Given the description of an element on the screen output the (x, y) to click on. 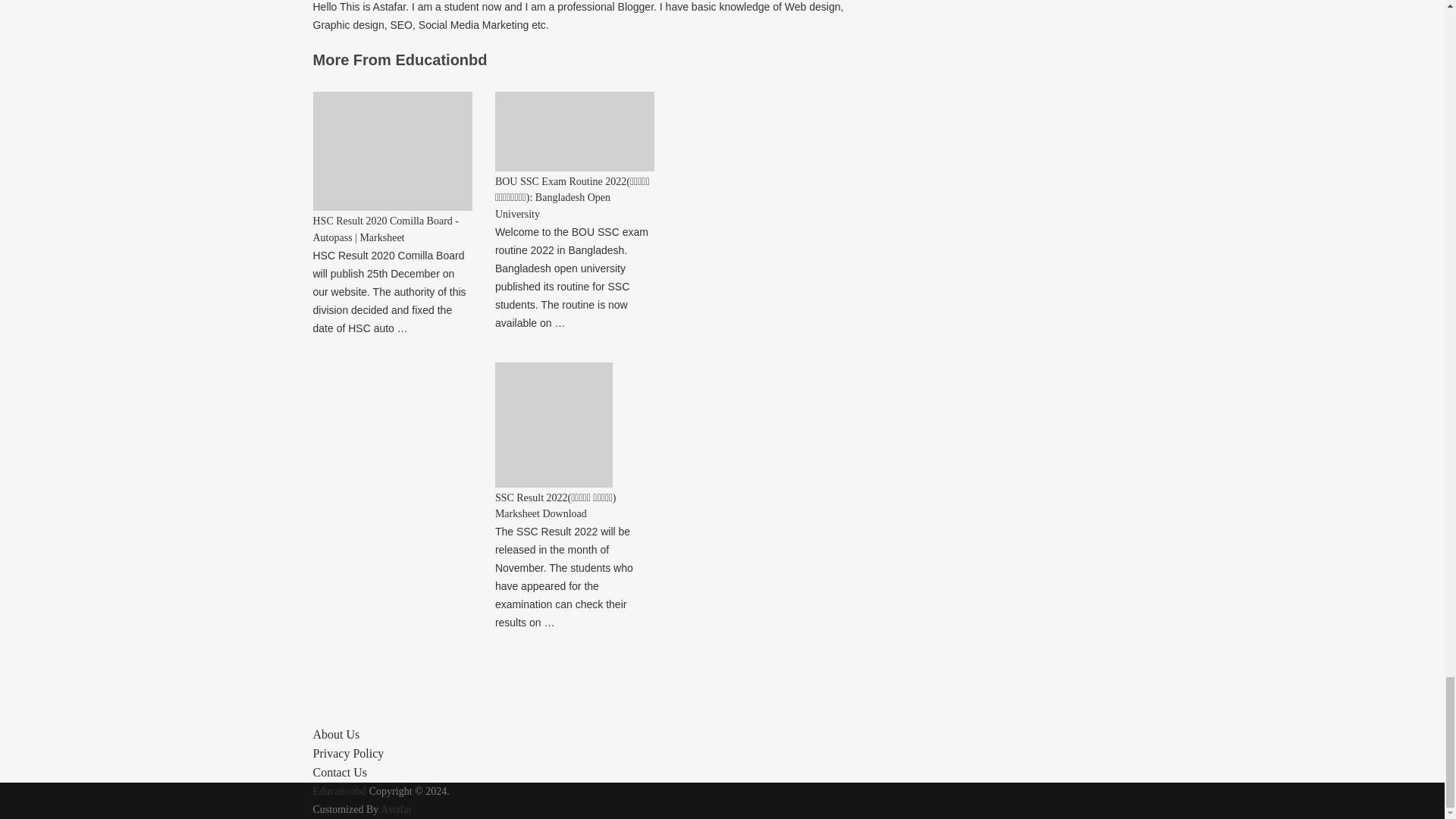
All Education Help Bangladesh (339, 790)
